Given the description of an element on the screen output the (x, y) to click on. 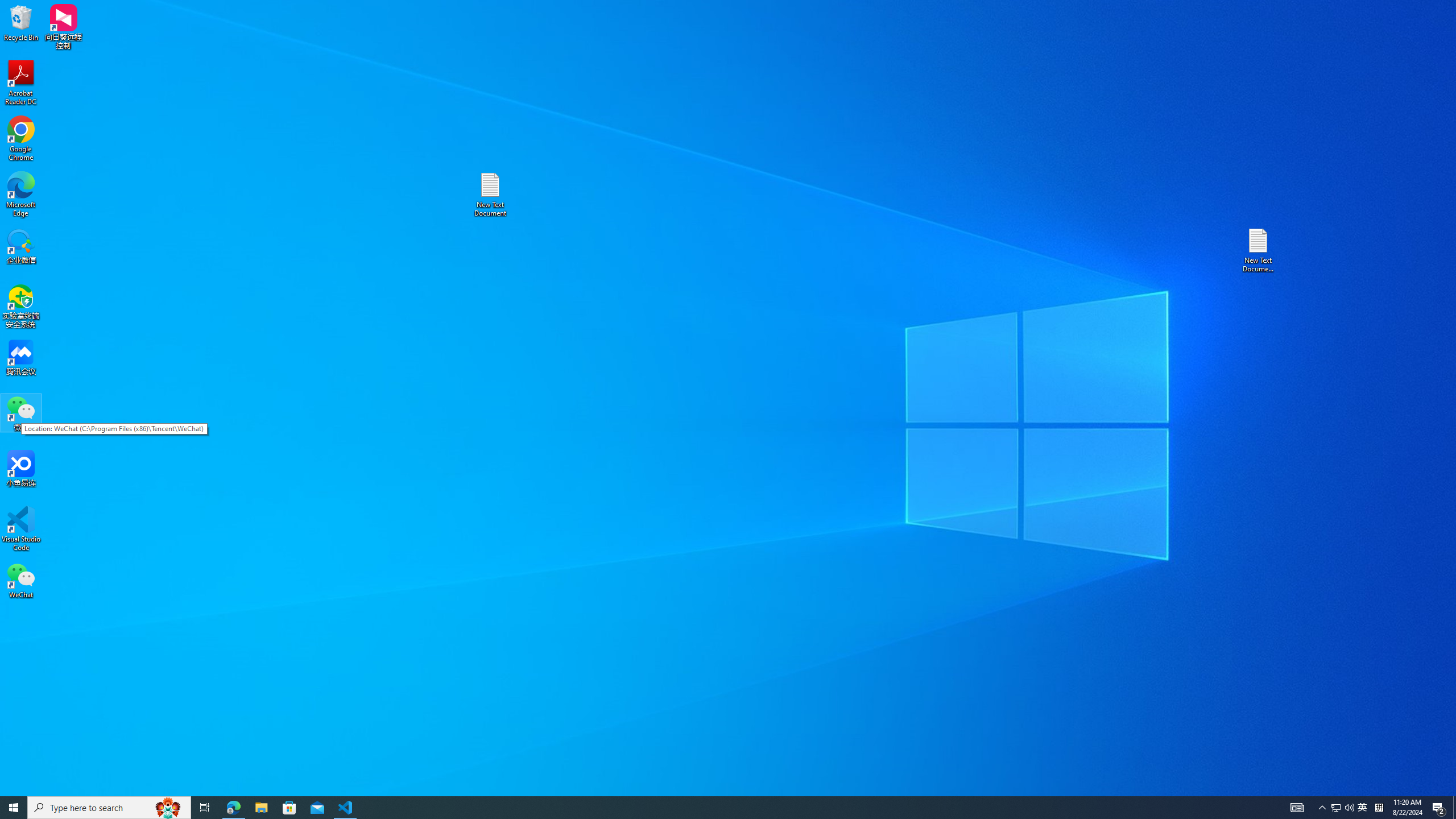
Recycle Bin (21, 22)
Type here to search (1335, 807)
Start (108, 807)
Visual Studio Code - 1 running window (13, 807)
Q2790: 100% (345, 807)
Tray Input Indicator - Chinese (Simplified, China) (1349, 807)
WeChat (1378, 807)
Acrobat Reader DC (21, 580)
Action Center, 2 new notifications (21, 82)
User Promoted Notification Area (1439, 807)
Google Chrome (1342, 807)
Task View (21, 138)
